Given the description of an element on the screen output the (x, y) to click on. 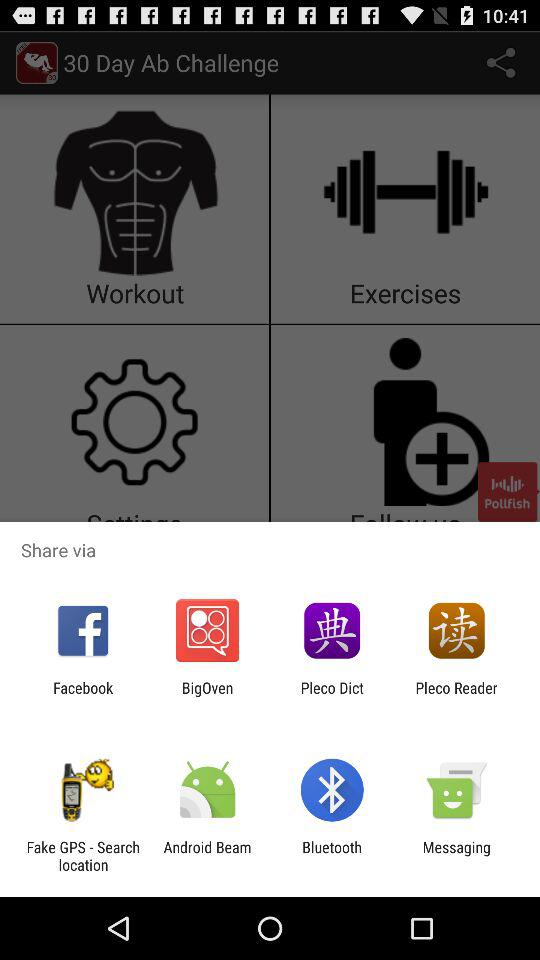
select pleco dict icon (331, 696)
